Given the description of an element on the screen output the (x, y) to click on. 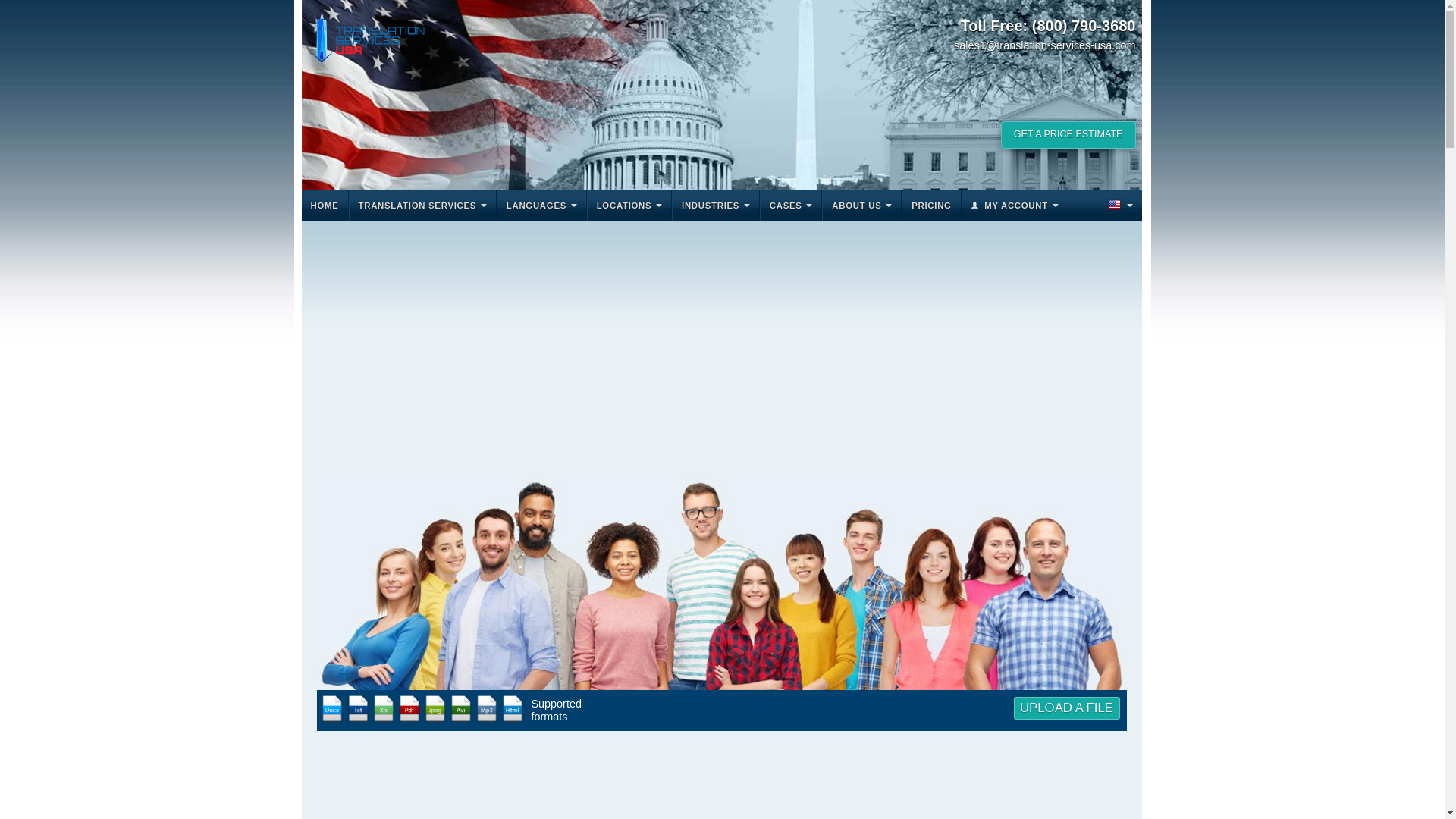
TRANSLATION SERVICES (422, 205)
GET A PRICE ESTIMATE (1068, 134)
HOME (325, 205)
Translation Services USA (366, 35)
